Given the description of an element on the screen output the (x, y) to click on. 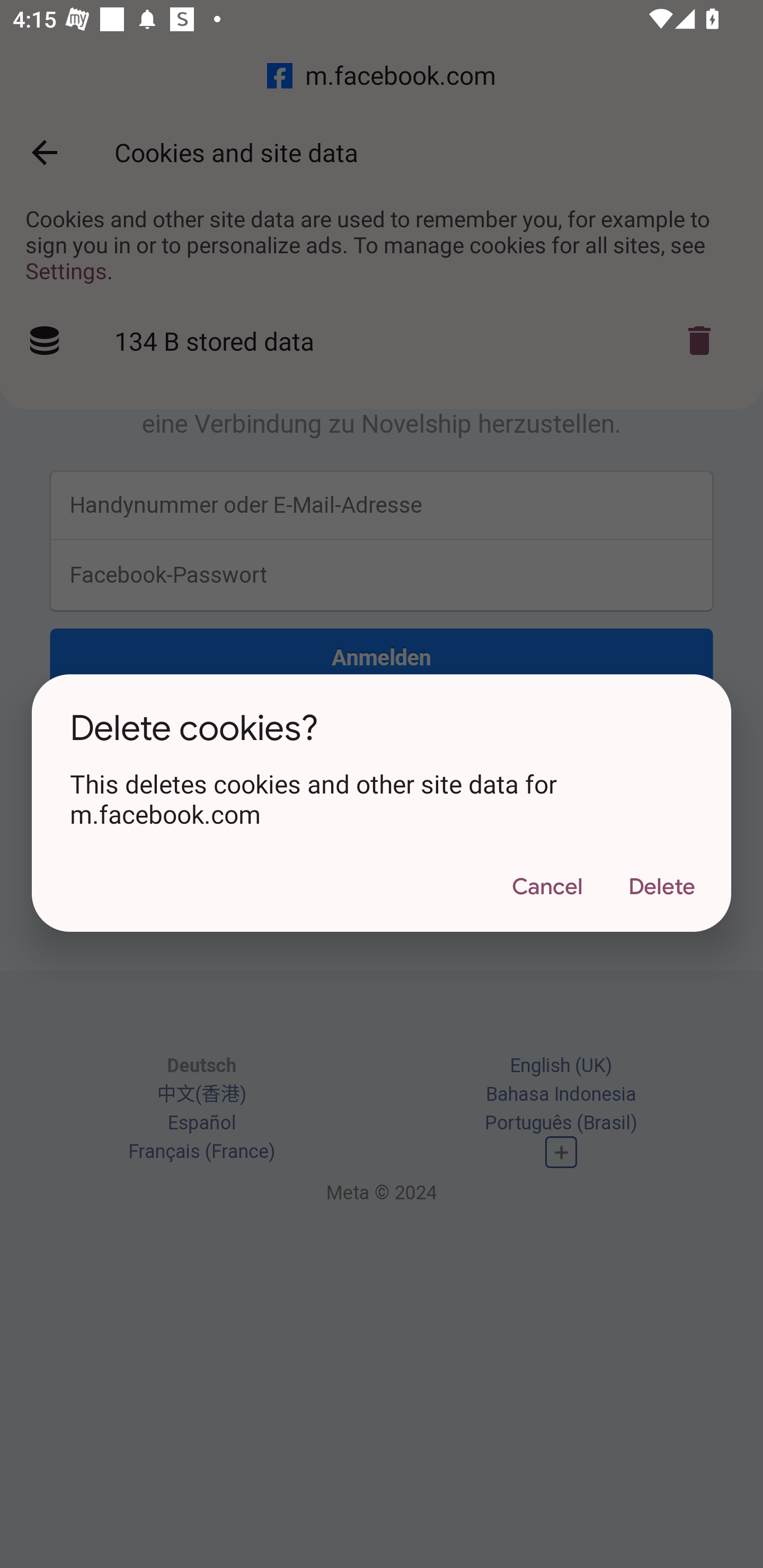
Cancel (546, 887)
Delete (660, 887)
